Given the description of an element on the screen output the (x, y) to click on. 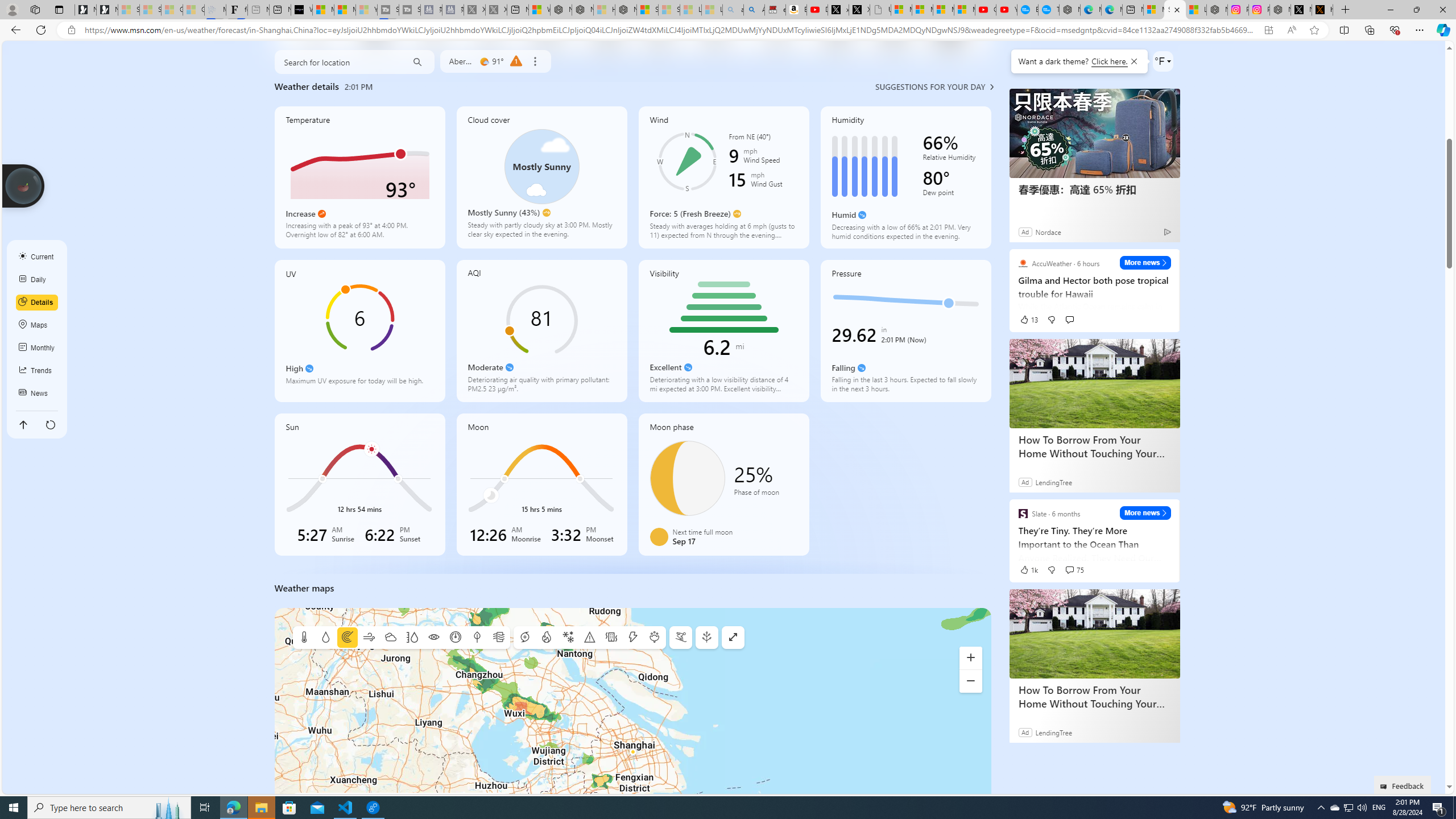
Maximum UV exposure for today will be high. (359, 384)
Search for location (337, 61)
Join us in planting real trees to help our planet! (23, 184)
Clouds (390, 637)
Details (37, 302)
